Given the description of an element on the screen output the (x, y) to click on. 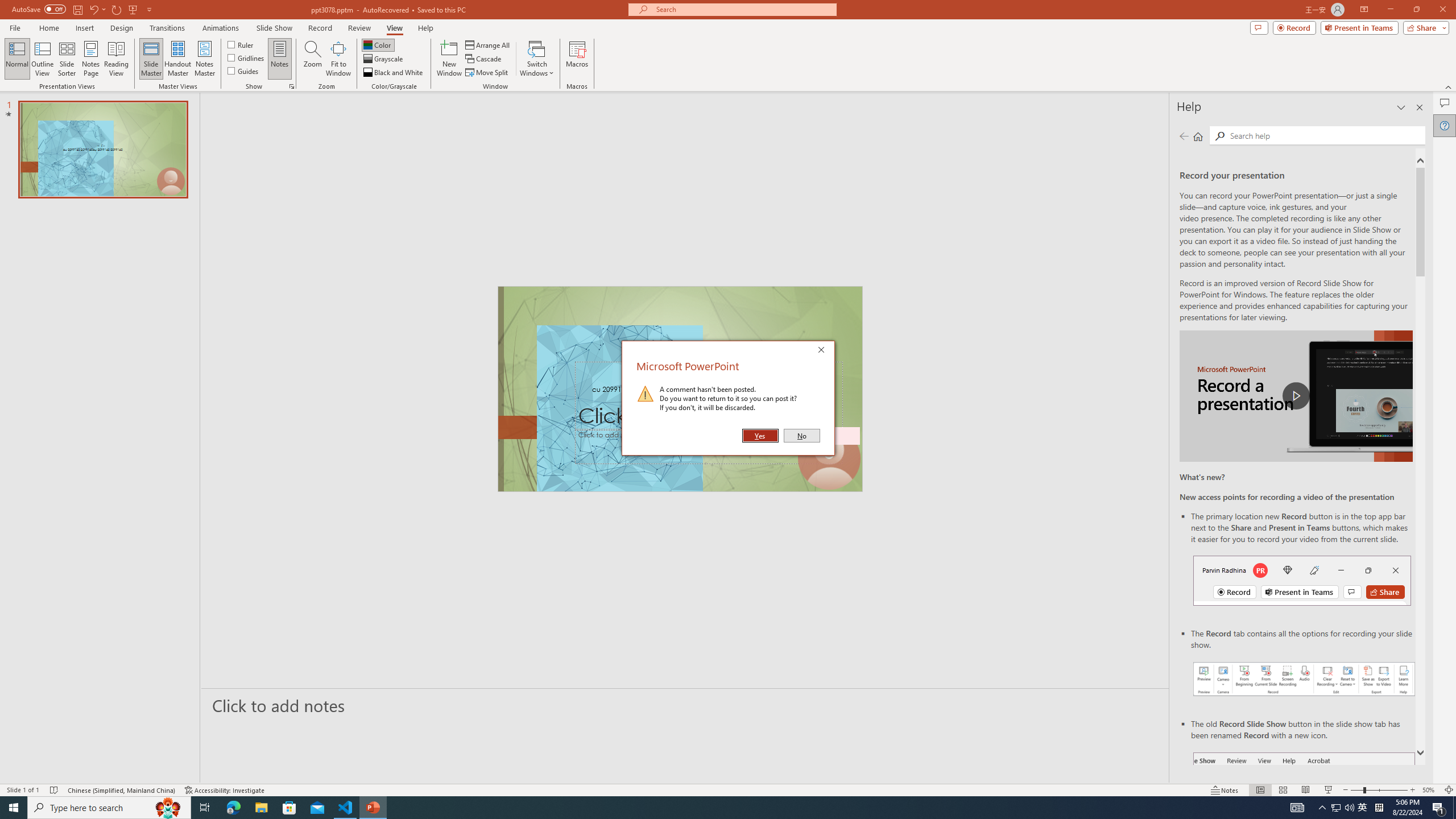
Gridlines (246, 56)
Warning Icon (645, 393)
Fit to Window (338, 58)
Color (377, 44)
Move Split (487, 72)
Zoom 50% (1430, 790)
